Given the description of an element on the screen output the (x, y) to click on. 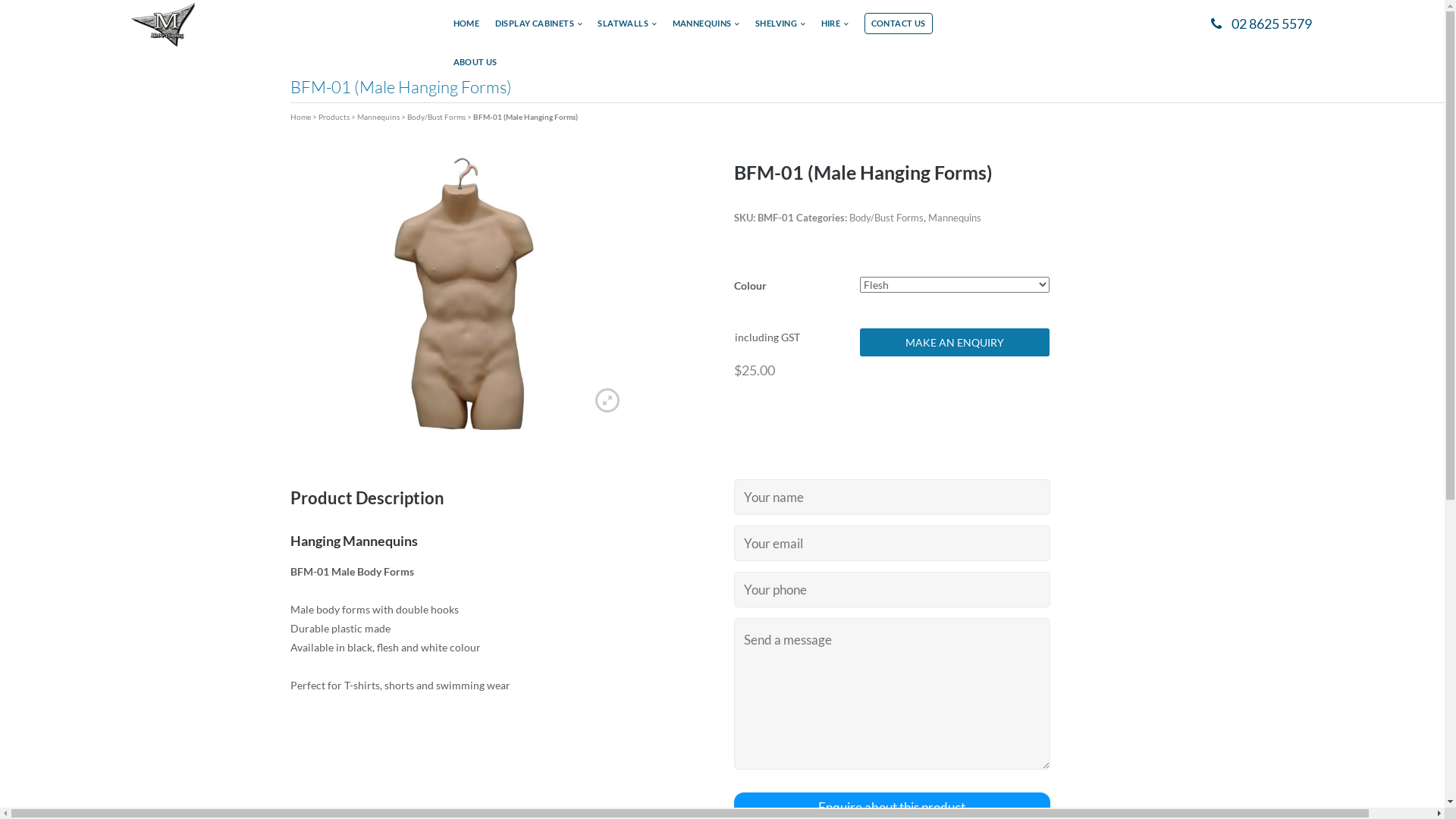
DISPLAY CABINETS Element type: text (538, 27)
SLATWALLS Element type: text (626, 27)
Mannequins Element type: text (954, 217)
MAKE AN ENQUIRY Element type: text (954, 342)
SHELVING Element type: text (780, 27)
Body/Bust Forms Element type: text (886, 217)
Body/Bust Forms Element type: text (435, 116)
MANNEQUINS Element type: text (706, 27)
HIRE Element type: text (835, 27)
CONTACT US Element type: text (898, 23)
Products Element type: text (333, 116)
BFM-01s_Largejpg Element type: hover (462, 291)
ABOUT US Element type: text (475, 66)
Home Element type: text (299, 116)
Mannequins Element type: text (377, 116)
Skip to content Element type: text (0, 0)
HOME Element type: text (466, 27)
